Given the description of an element on the screen output the (x, y) to click on. 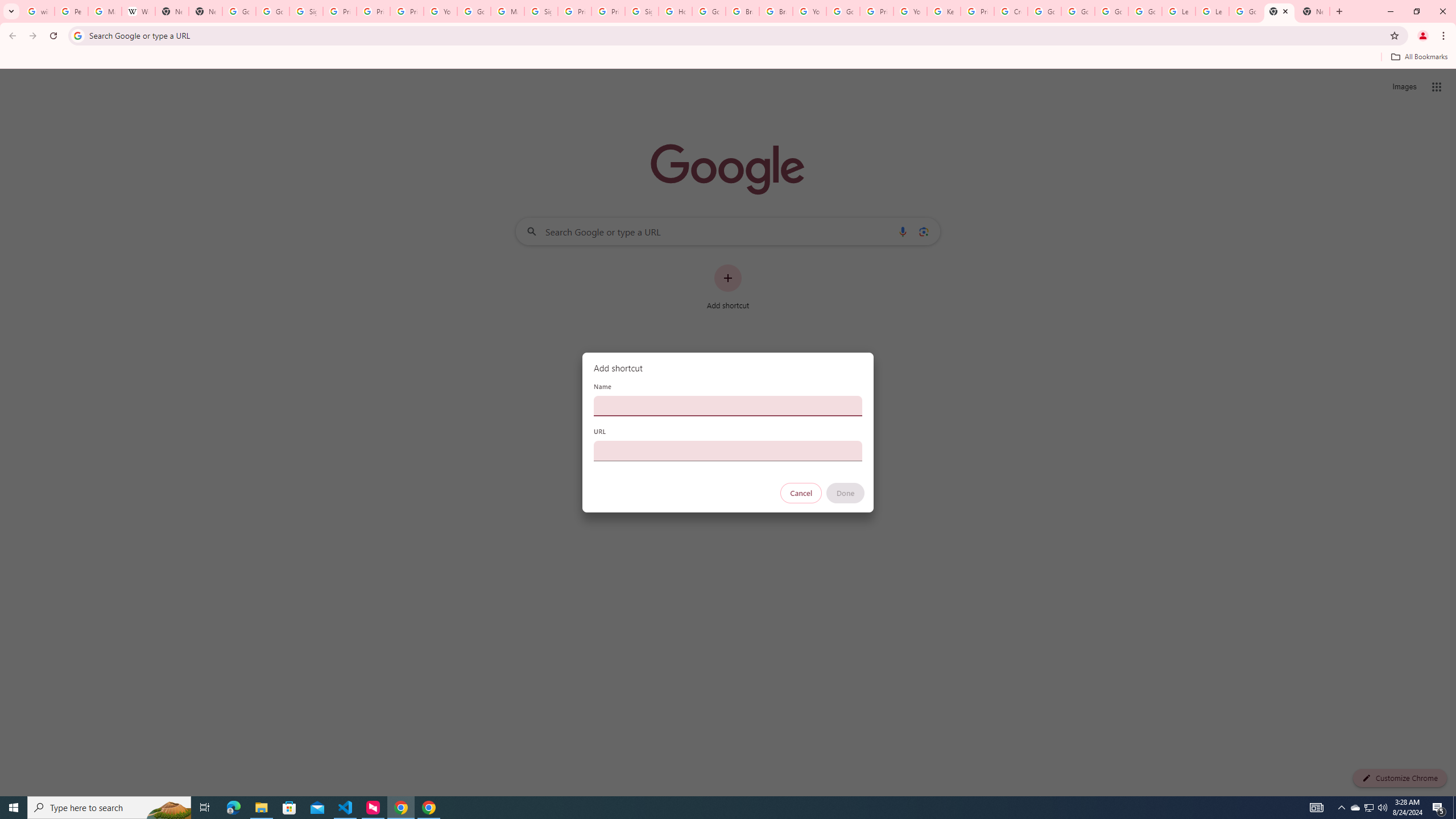
Wikipedia:Edit requests - Wikipedia (138, 11)
Sign in - Google Accounts (541, 11)
Sign in - Google Accounts (305, 11)
Brand Resource Center (742, 11)
YouTube (909, 11)
Personalization & Google Search results - Google Search Help (71, 11)
Done (845, 493)
